Given the description of an element on the screen output the (x, y) to click on. 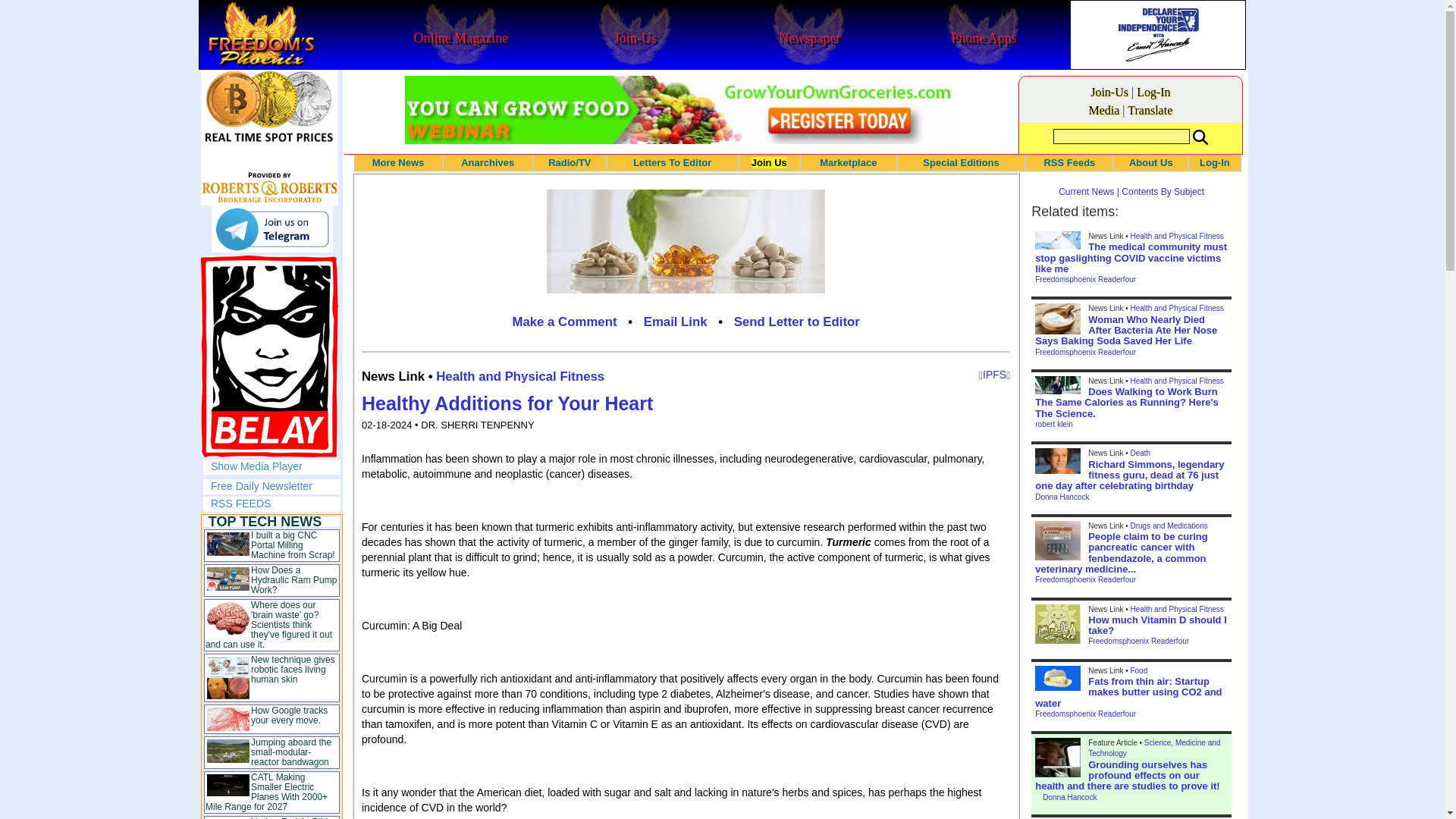
Declare Your Independence on Telegram (271, 229)
I built a big CNC Portal Milling Machine from Scrap! (292, 544)
Show Media Player (256, 466)
RSS FEEDS (240, 503)
How Google tracks your every move. (288, 715)
Free Daily Newsletter (262, 485)
How Does a Hydraulic Ram Pump Work? (293, 580)
New technique gives robotic faces living human skin (292, 669)
TOP TECH NEWS (264, 521)
Top Links (271, 666)
A quick description and demo of this ingenious pump. (293, 580)
